Given the description of an element on the screen output the (x, y) to click on. 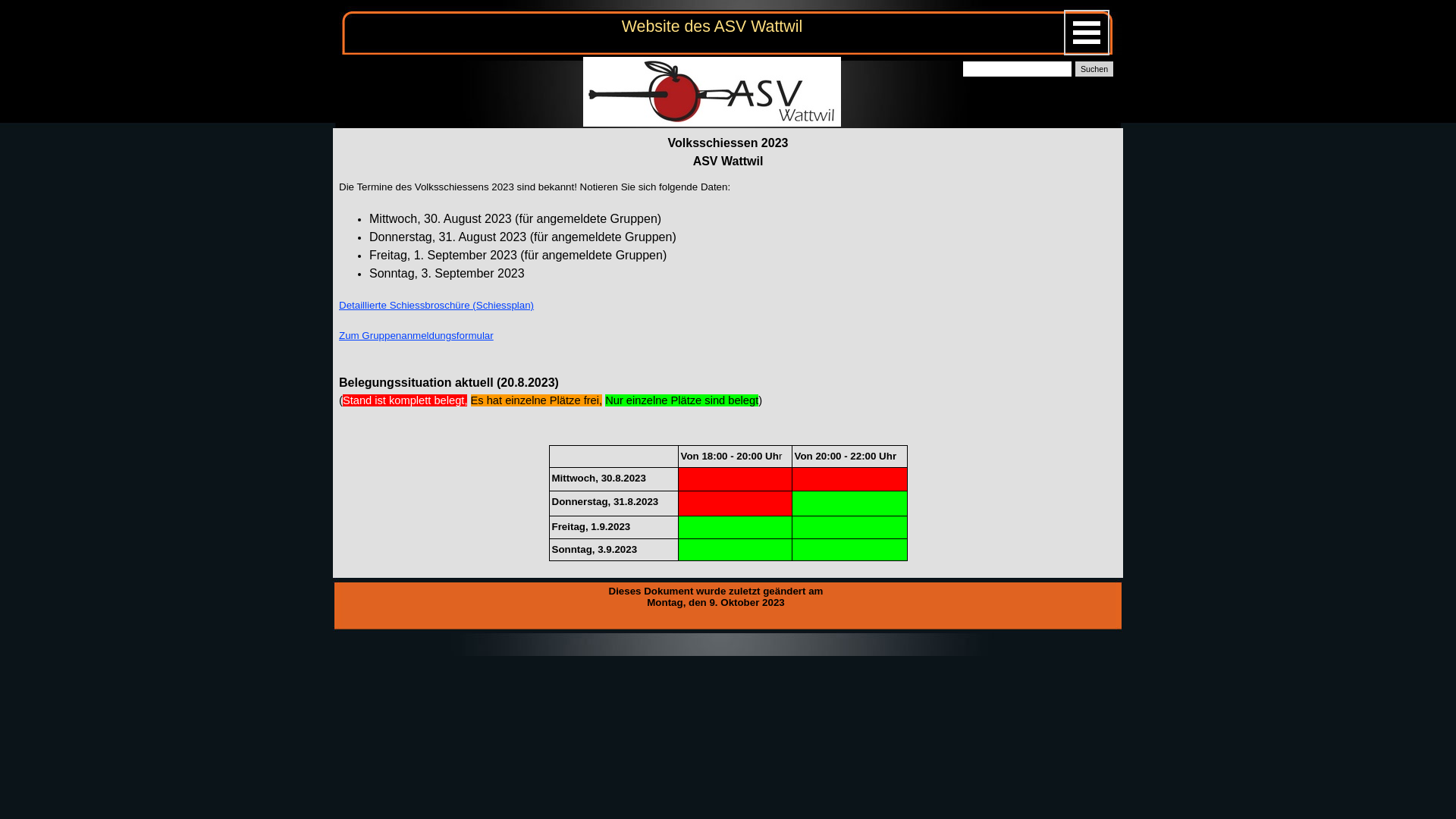
Website des ASV Wattwil Element type: text (711, 26)
Suchen Element type: text (1093, 68)
Zum Gruppenanmeldungsformular Element type: text (415, 335)
